Given the description of an element on the screen output the (x, y) to click on. 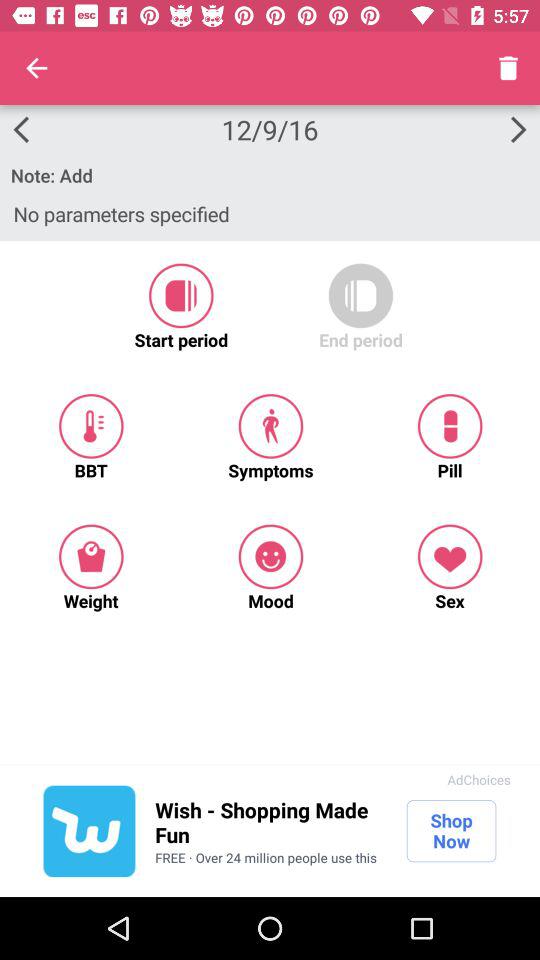
press the icon to the left of 12/9/16 (36, 68)
